Given the description of an element on the screen output the (x, y) to click on. 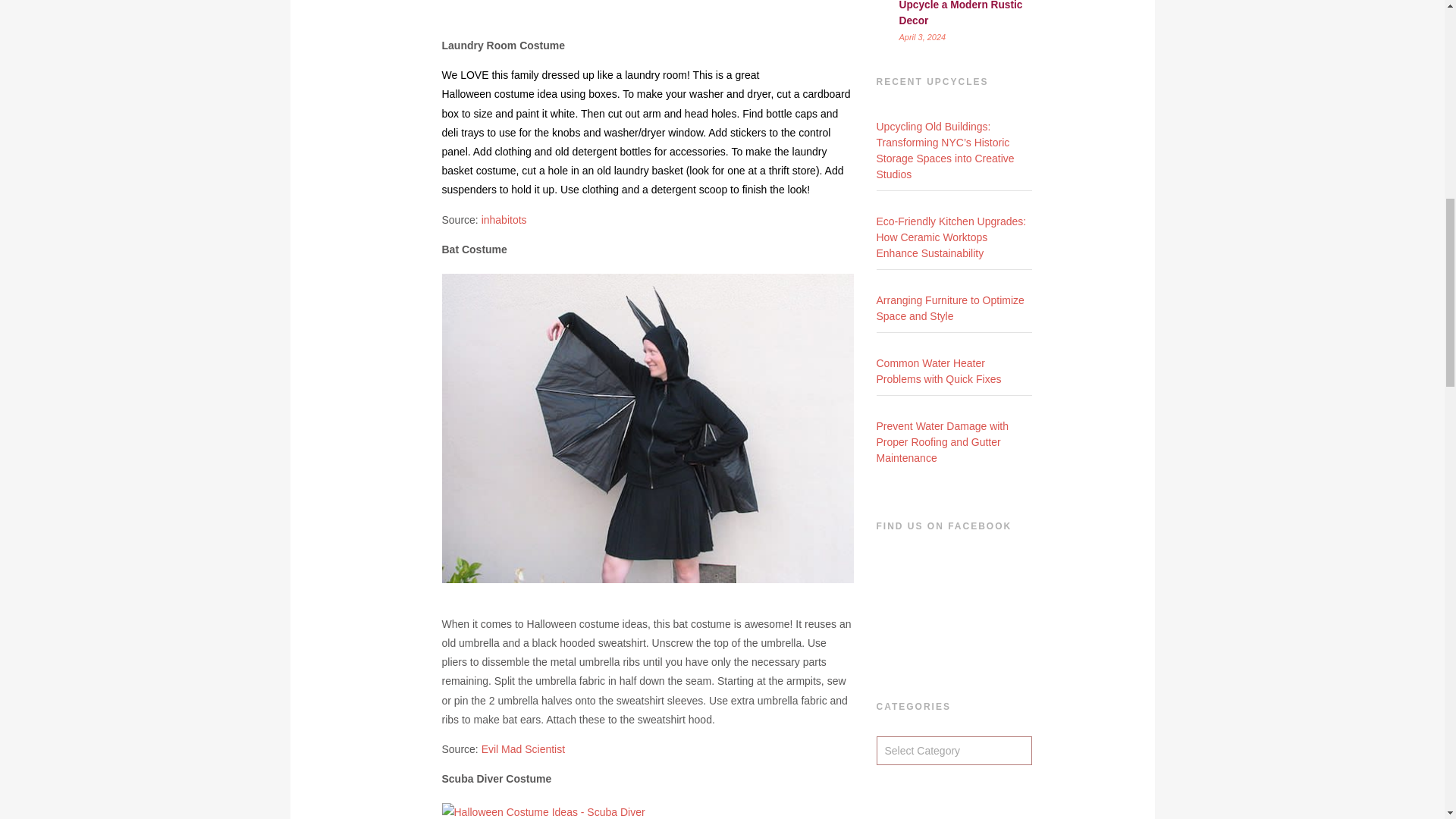
Wednesday, April 3rd, 2024, 12:41 am (922, 36)
